Given the description of an element on the screen output the (x, y) to click on. 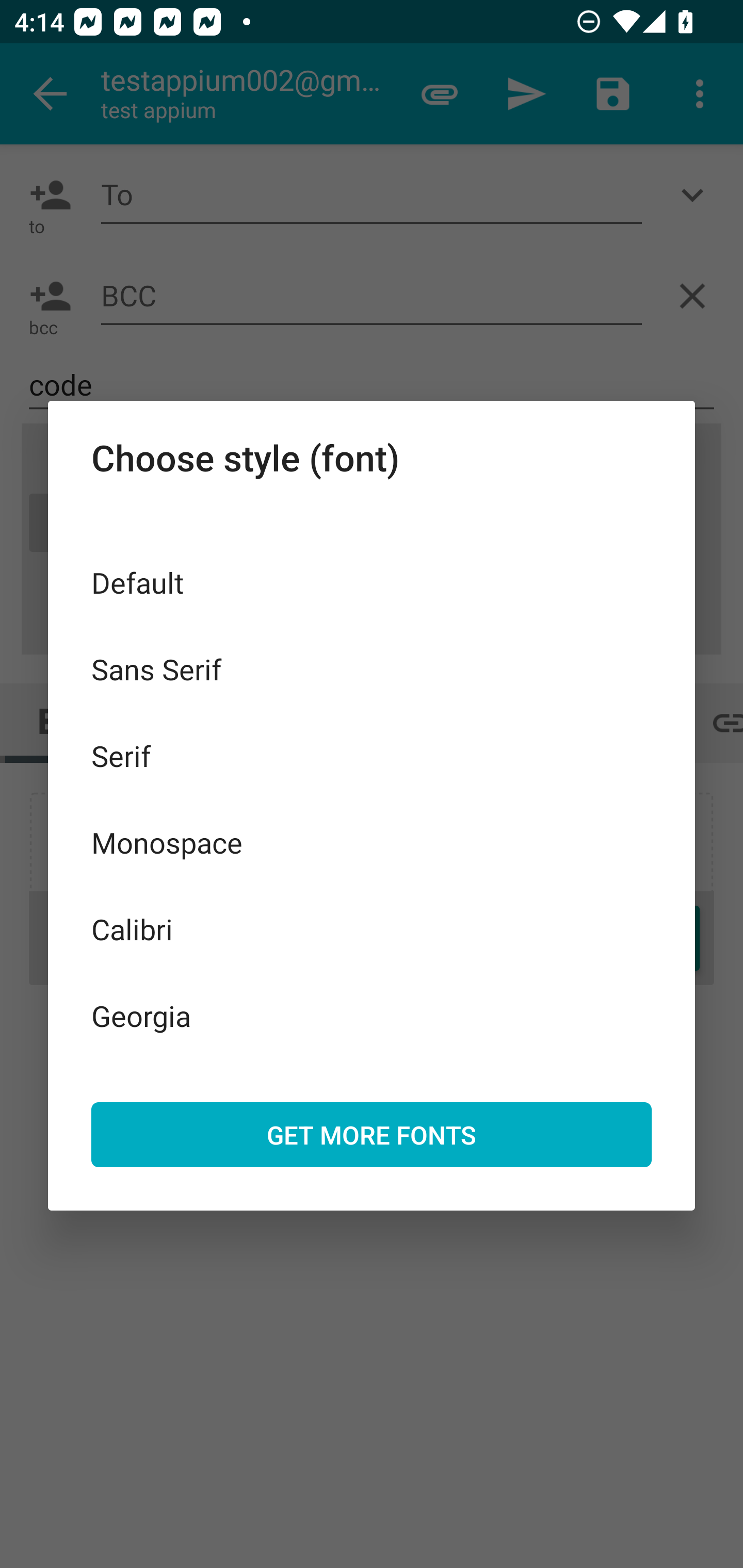
Default (371, 582)
Sans Serif (371, 668)
Serif (371, 755)
Monospace (371, 842)
Calibri (371, 928)
Georgia (371, 1015)
GET MORE FONTS (371, 1134)
